Given the description of an element on the screen output the (x, y) to click on. 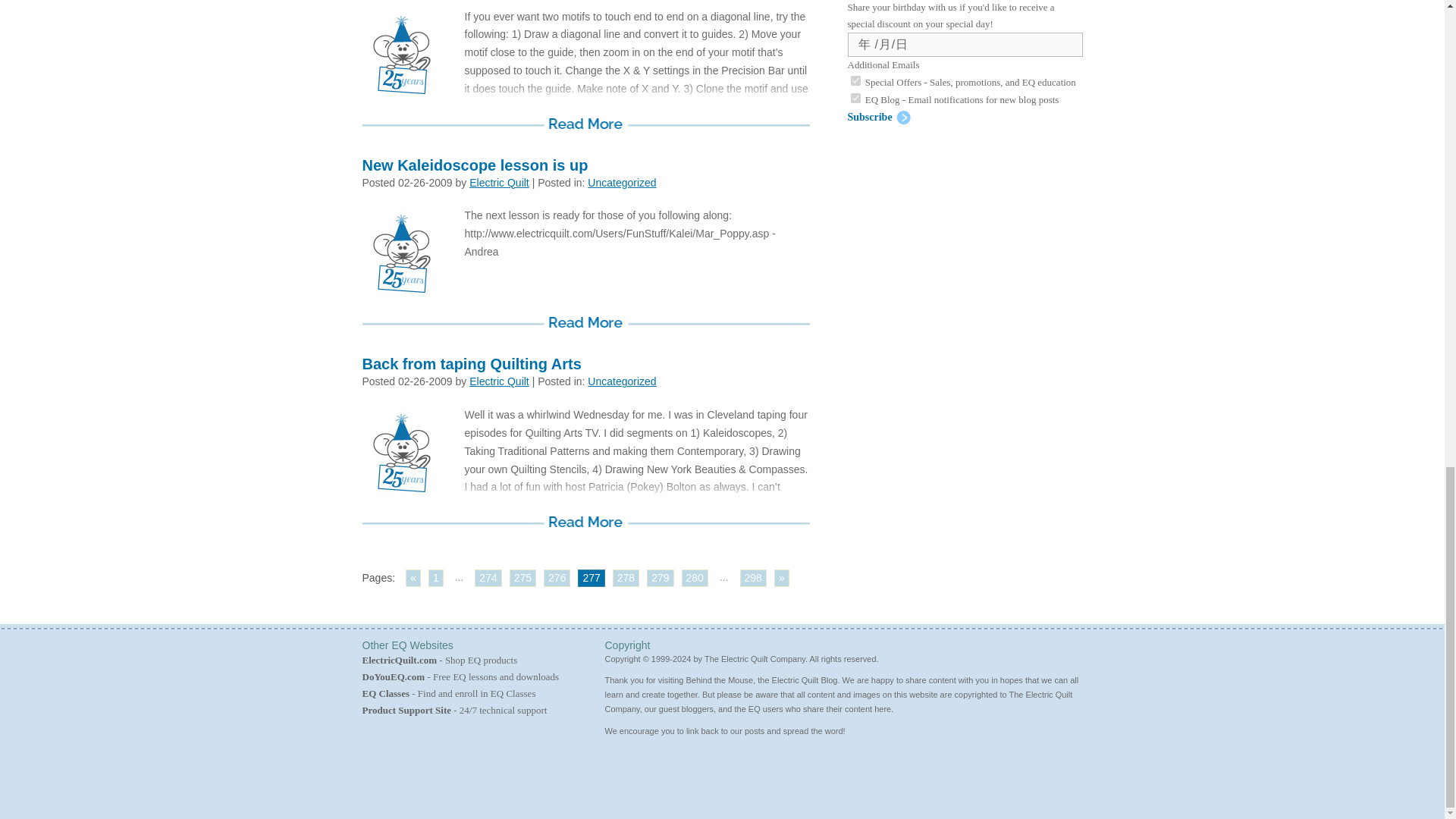
Subscribe (879, 117)
26 (930, 155)
true (855, 98)
true (855, 80)
